Given the description of an element on the screen output the (x, y) to click on. 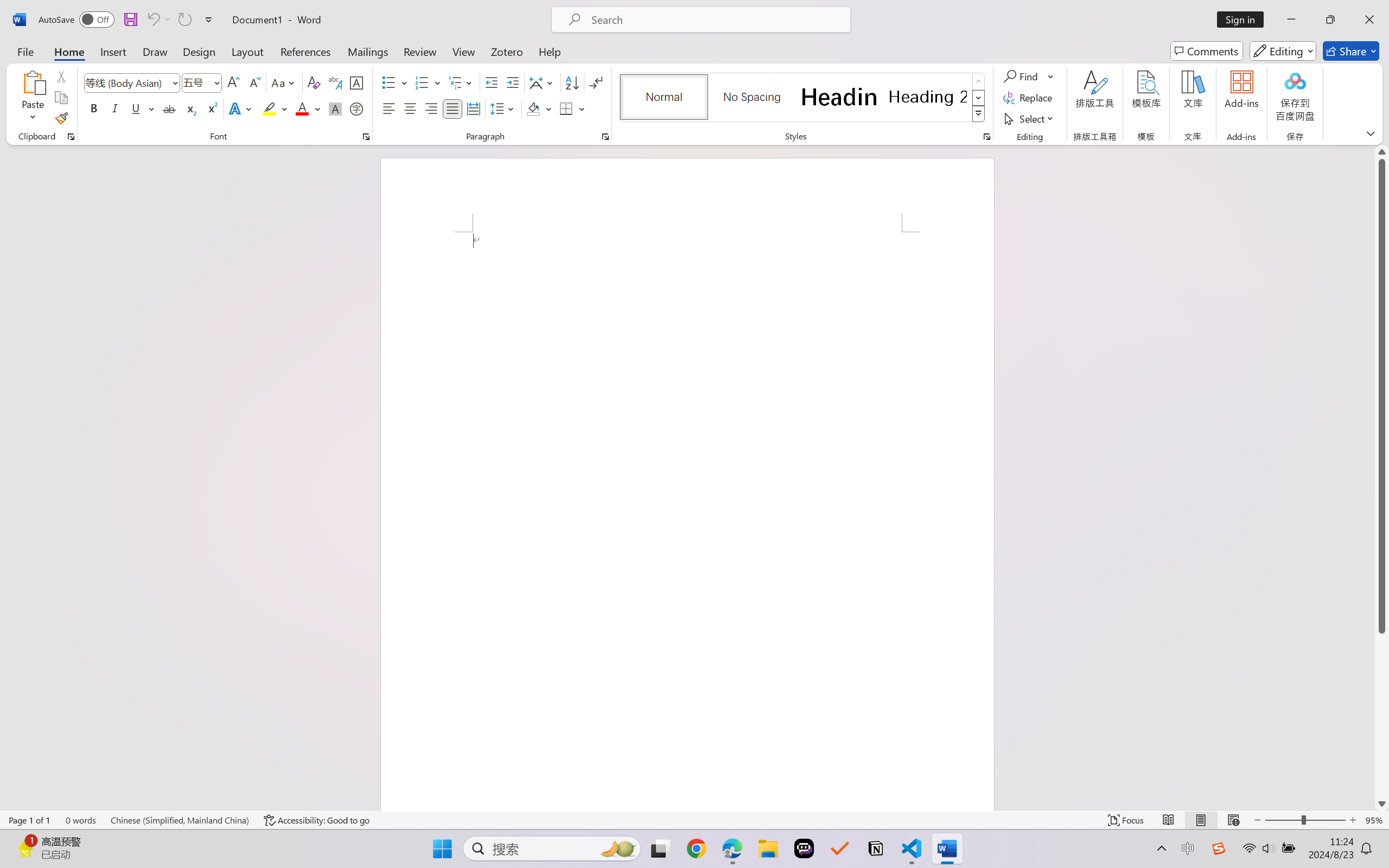
Language Chinese (Simplified, Mainland China) (179, 819)
